Given the description of an element on the screen output the (x, y) to click on. 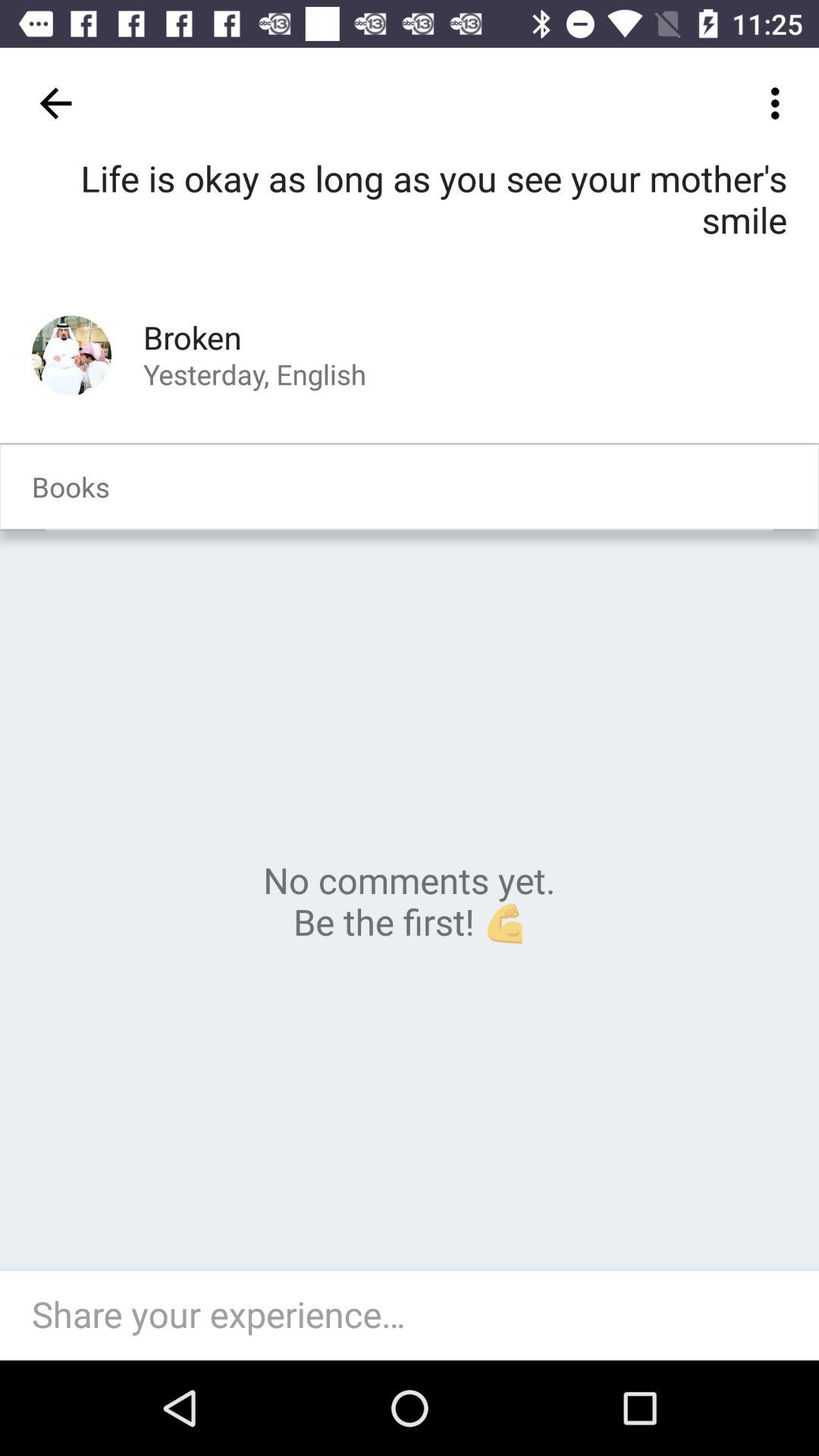
share your experience field (417, 1315)
